Given the description of an element on the screen output the (x, y) to click on. 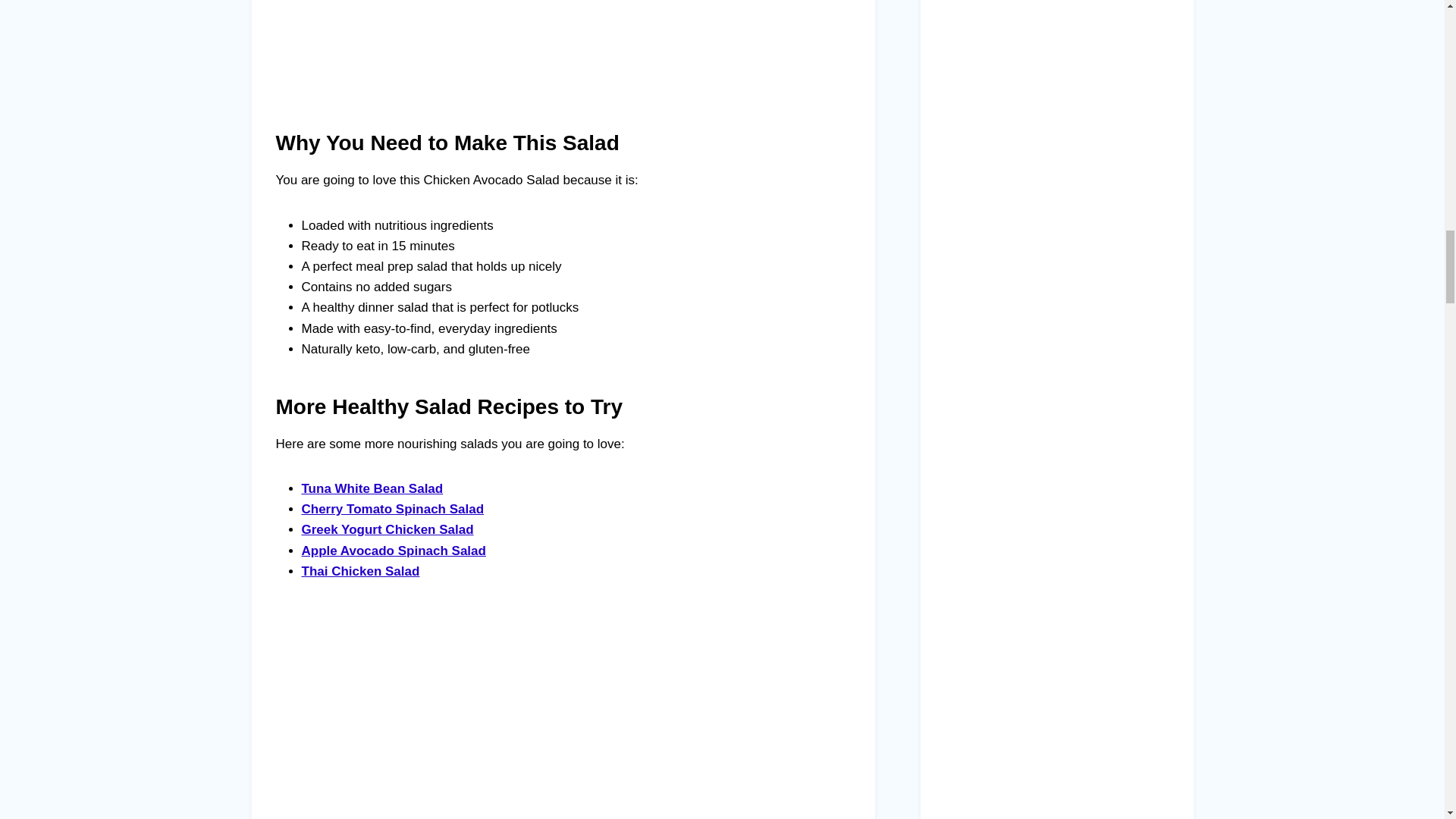
Apple Avocado Spinach Salad (393, 550)
Cherry Tomato Spinach Salad (392, 509)
Greek Yogurt Chicken Salad (387, 529)
Tuna White Bean Salad (372, 488)
Thai Chicken Salad (360, 571)
